Given the description of an element on the screen output the (x, y) to click on. 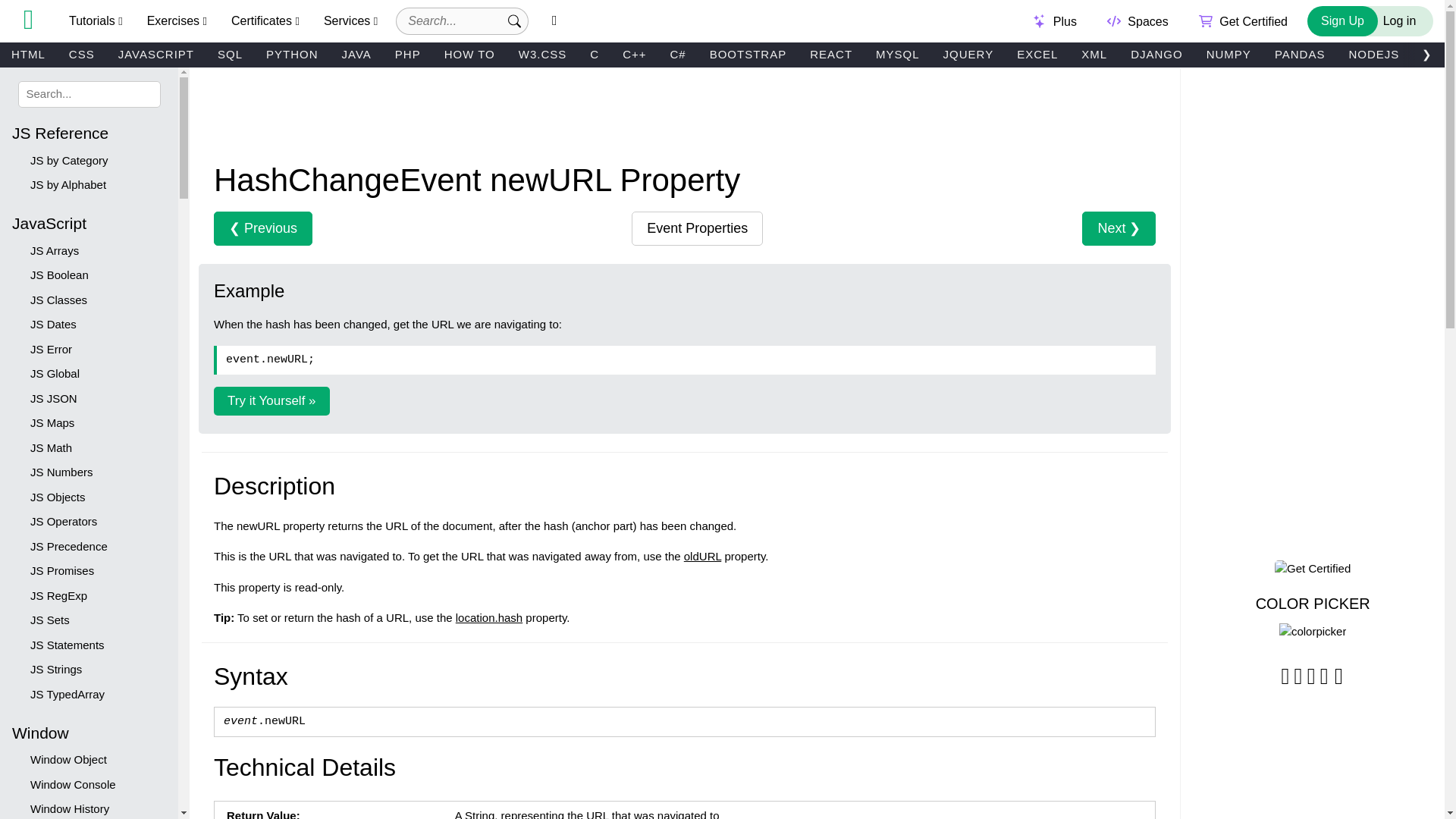
Log in (1390, 20)
Services (350, 21)
Login to your account (1390, 20)
Sign Up to Improve Your Learning Experience (1342, 20)
Certificates (265, 21)
Exercises (177, 21)
W3Schools Certificates (1244, 20)
Plus (1055, 20)
Tutorials (95, 21)
Get Certified (1244, 20)
Become a PLUS user and unlock powerful features (1055, 20)
Tutorials and References (95, 21)
Home (28, 20)
Exercises and Quizzes (177, 21)
Sign Up (1342, 20)
